Given the description of an element on the screen output the (x, y) to click on. 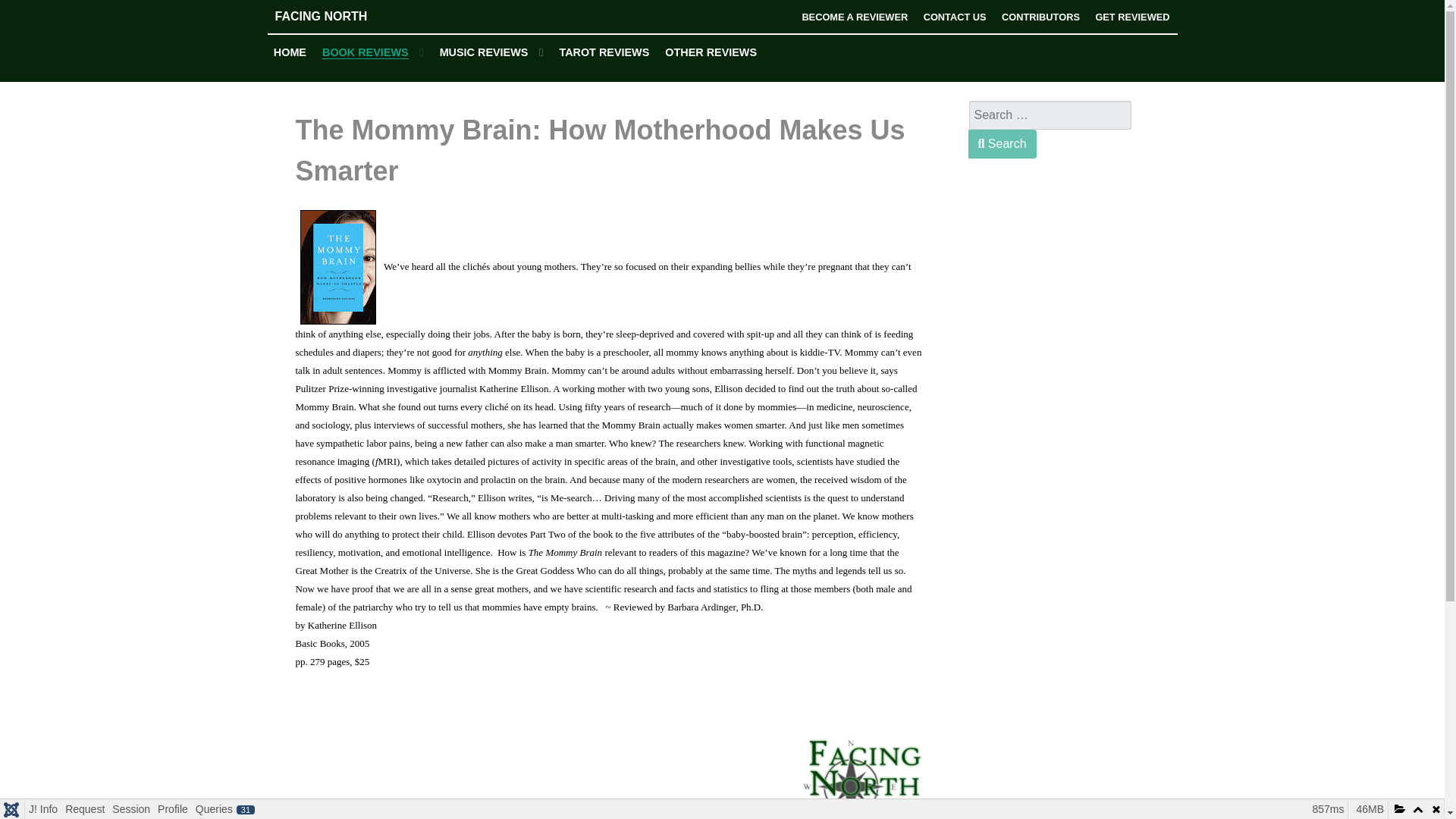
BECOME A REVIEWER (854, 16)
CONTACT US (955, 16)
BOOK REVIEWS (373, 52)
Book Reviews (373, 52)
GET REVIEWED (1131, 16)
HOME (289, 52)
FACING NORTH (380, 16)
Facing North (380, 16)
Contributors (1040, 16)
Home (289, 52)
CONTRIBUTORS (1040, 16)
Get Reviewed (1131, 16)
Contact Us (955, 16)
Become a Reviewer (854, 16)
